Given the description of an element on the screen output the (x, y) to click on. 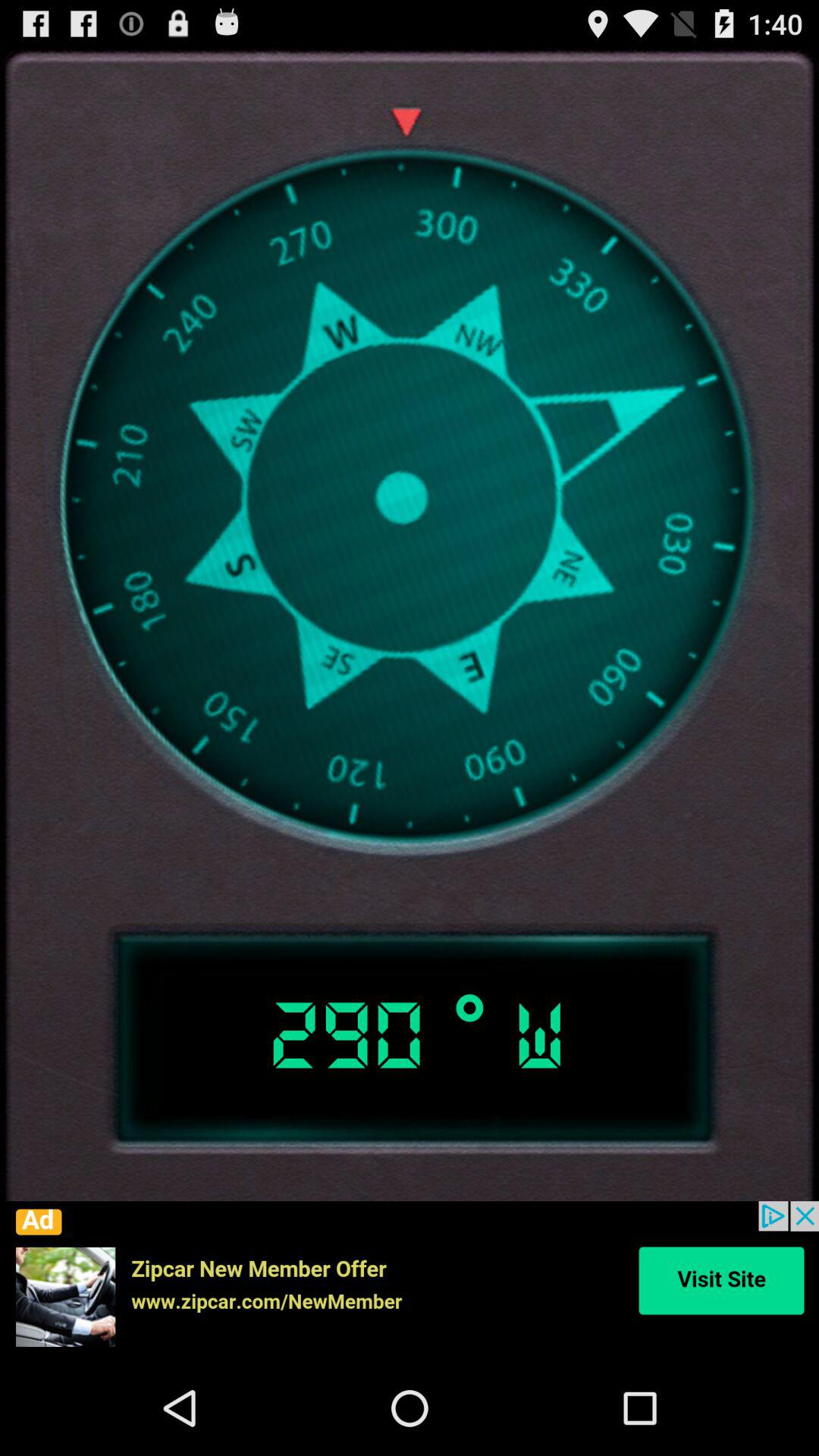
advertisement (409, 1280)
